Given the description of an element on the screen output the (x, y) to click on. 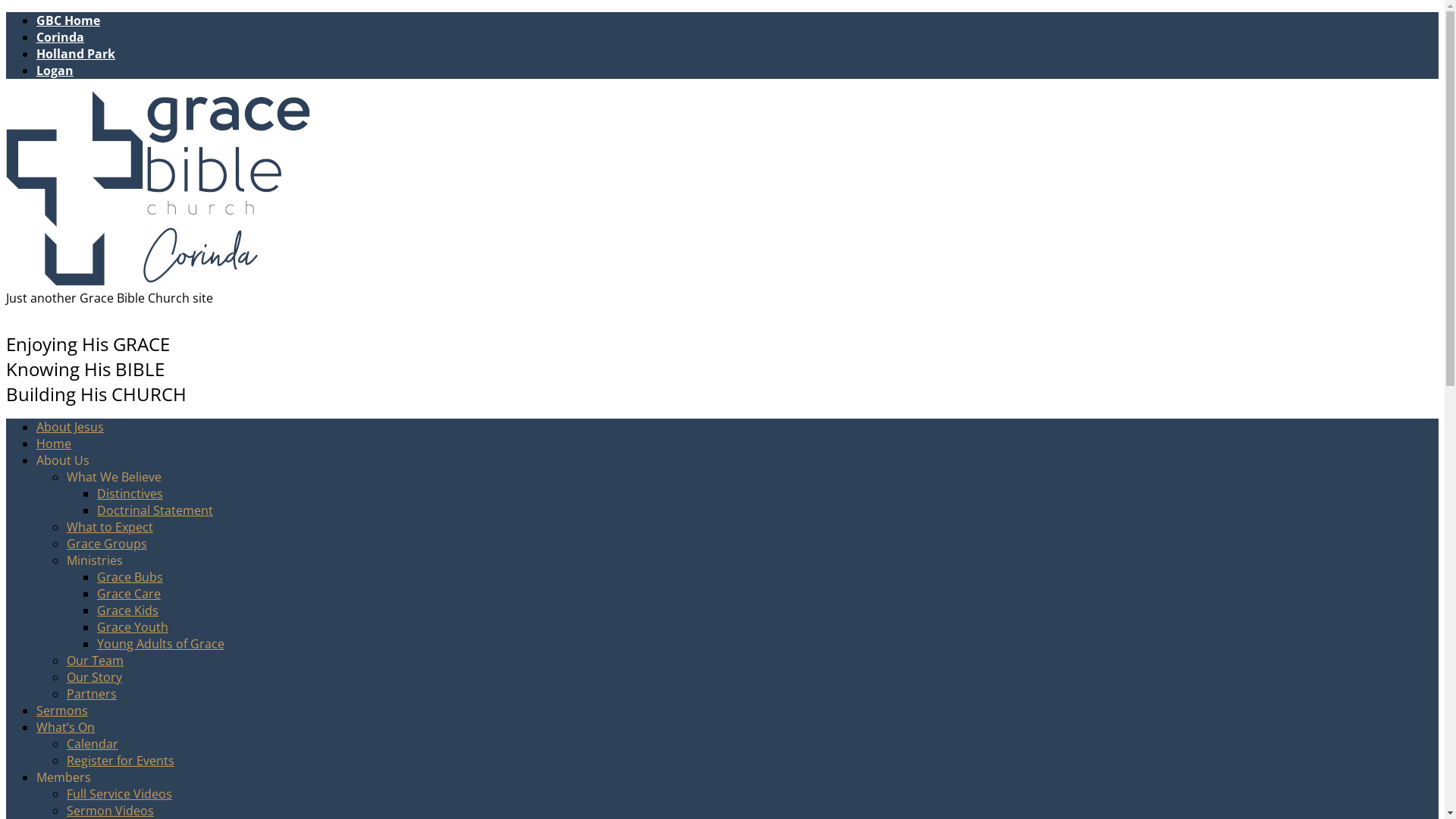
Partners Element type: text (91, 693)
Members Element type: text (63, 776)
Sermons Element type: text (61, 710)
Holland Park Element type: text (75, 53)
About Jesus Element type: text (69, 426)
Grace Bubs Element type: text (130, 576)
Our Team Element type: text (94, 660)
What We Believe Element type: text (113, 476)
Young Adults of Grace Element type: text (160, 643)
Calendar Element type: text (92, 743)
Home Element type: text (53, 443)
Ministries Element type: text (94, 560)
Doctrinal Statement Element type: text (155, 510)
What to Expect Element type: text (109, 526)
About Us Element type: text (62, 459)
Logan Element type: text (54, 70)
Full Service Videos Element type: text (119, 793)
Register for Events Element type: text (120, 760)
Grace Kids Element type: text (127, 610)
GBC Home Element type: text (68, 20)
Grace Groups Element type: text (106, 543)
Grace Youth Element type: text (132, 626)
Grace Care Element type: text (128, 593)
Distinctives Element type: text (130, 493)
Corinda Element type: text (60, 36)
Our Story Element type: text (94, 676)
